Given the description of an element on the screen output the (x, y) to click on. 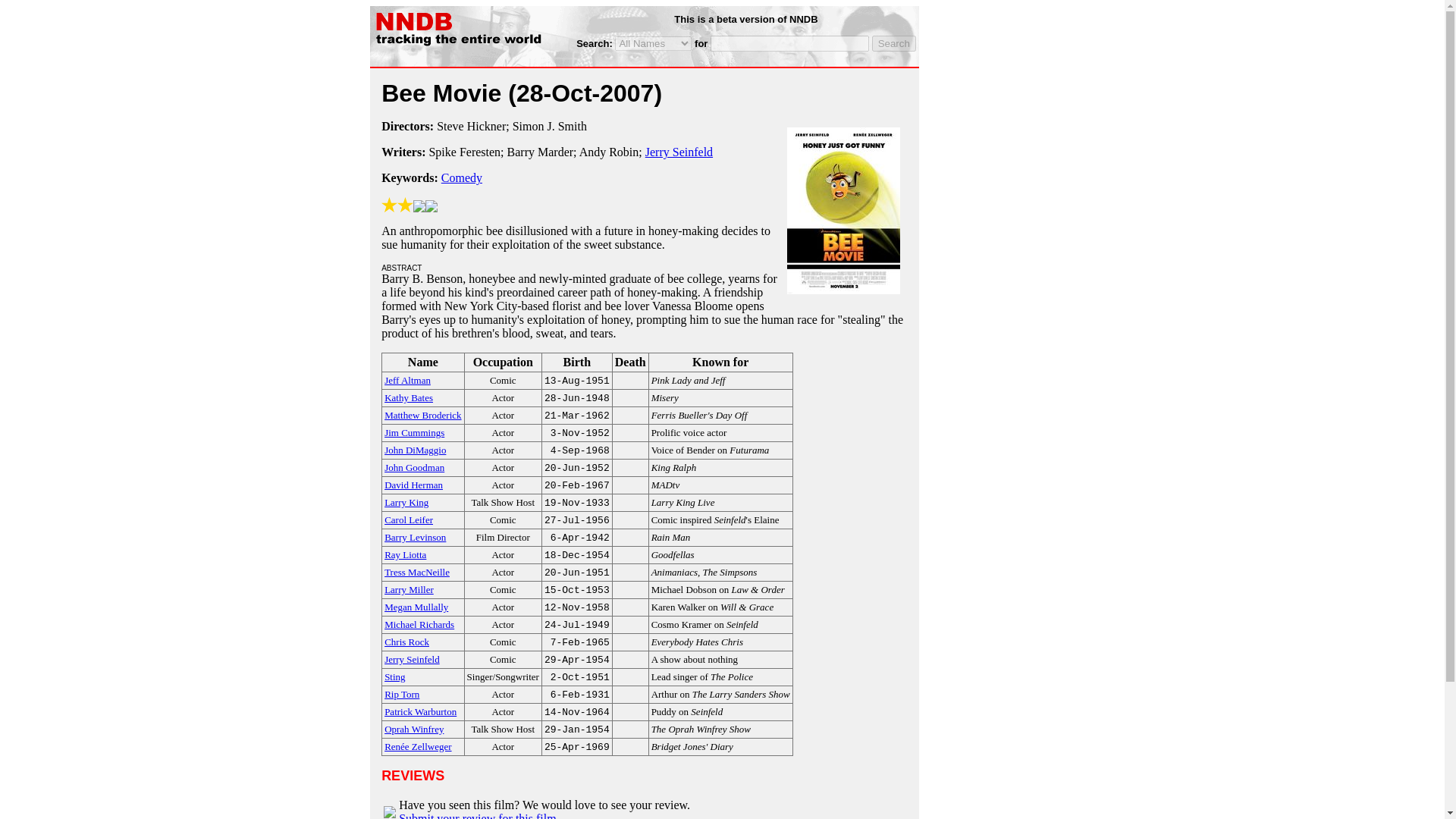
Chris Rock (406, 640)
Search (893, 43)
John DiMaggio (414, 449)
Tress MacNeille (416, 571)
Larry King (406, 501)
Jeff Altman (407, 379)
John Goodman (414, 466)
Matthew Broderick (422, 413)
Comedy (461, 177)
Megan Mullally (416, 605)
